Given the description of an element on the screen output the (x, y) to click on. 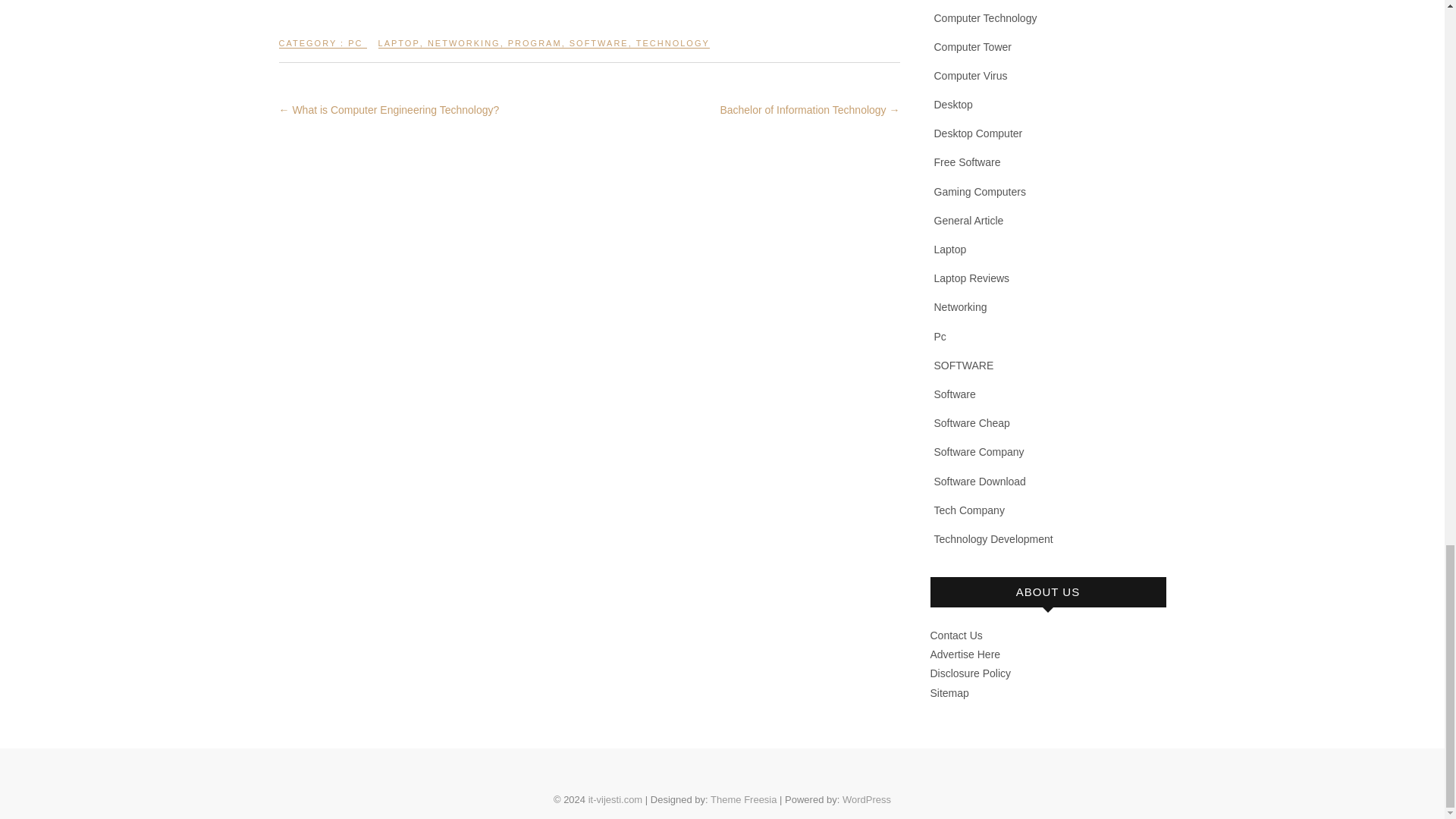
NETWORKING (464, 49)
WordPress (867, 799)
Theme Freesia (743, 799)
PROGRAM (535, 49)
it-vijesti.com (615, 799)
LAPTOP (399, 49)
